Given the description of an element on the screen output the (x, y) to click on. 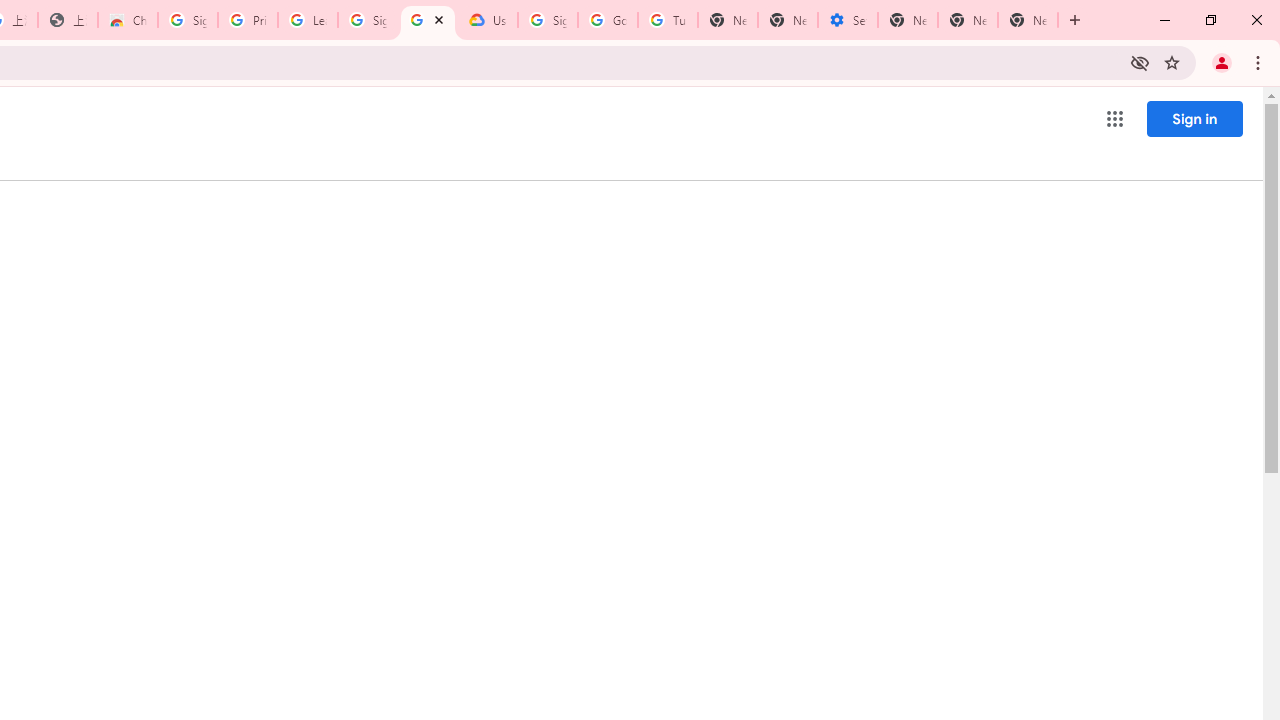
New Tab (1028, 20)
Google Account Help (607, 20)
Turn cookies on or off - Computer - Google Account Help (667, 20)
Sign in - Google Accounts (548, 20)
